Given the description of an element on the screen output the (x, y) to click on. 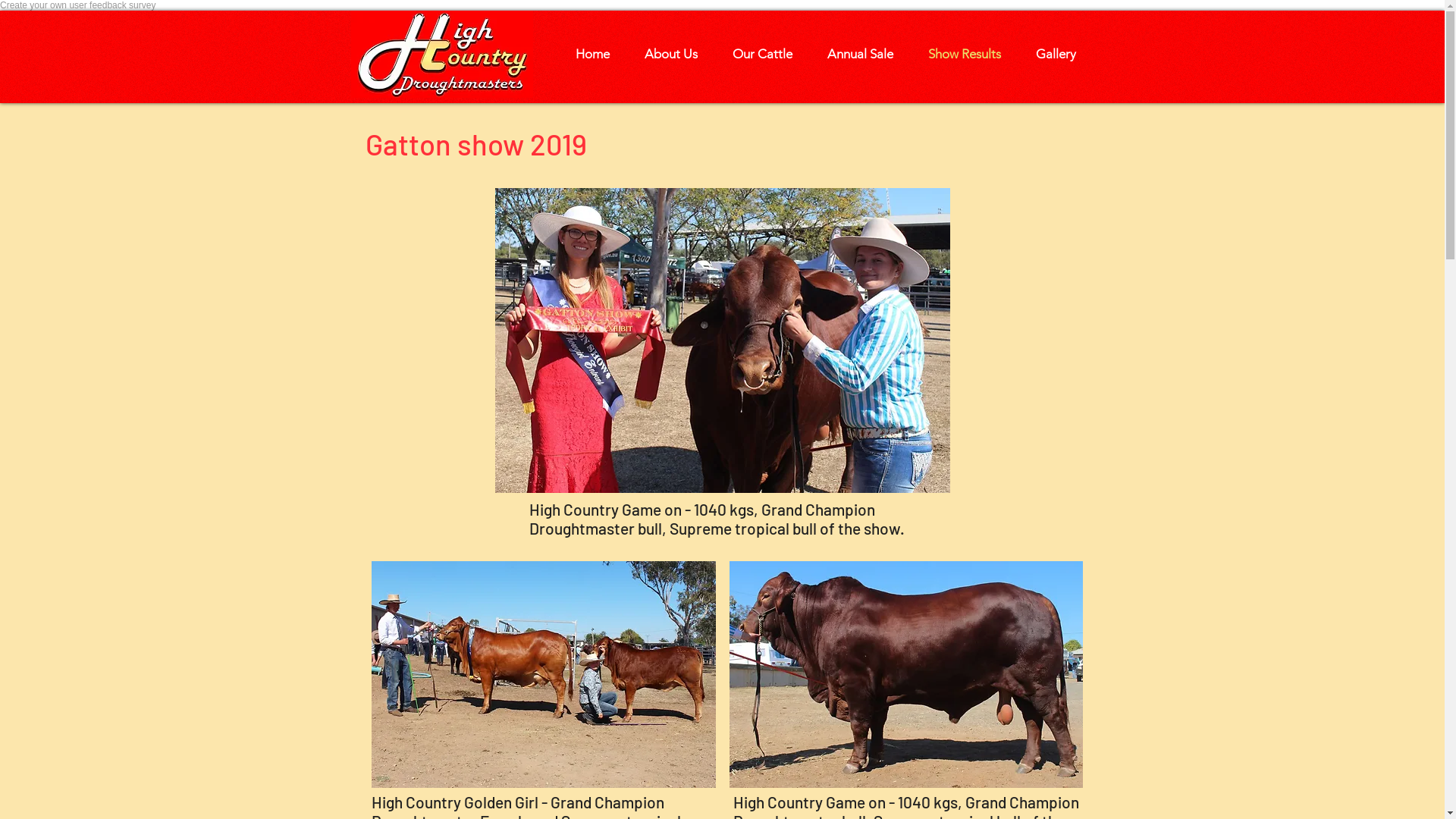
Gallery Element type: text (1048, 53)
Show Results Element type: text (957, 53)
Home Element type: text (585, 53)
Create your own user feedback survey Element type: text (77, 5)
